Given the description of an element on the screen output the (x, y) to click on. 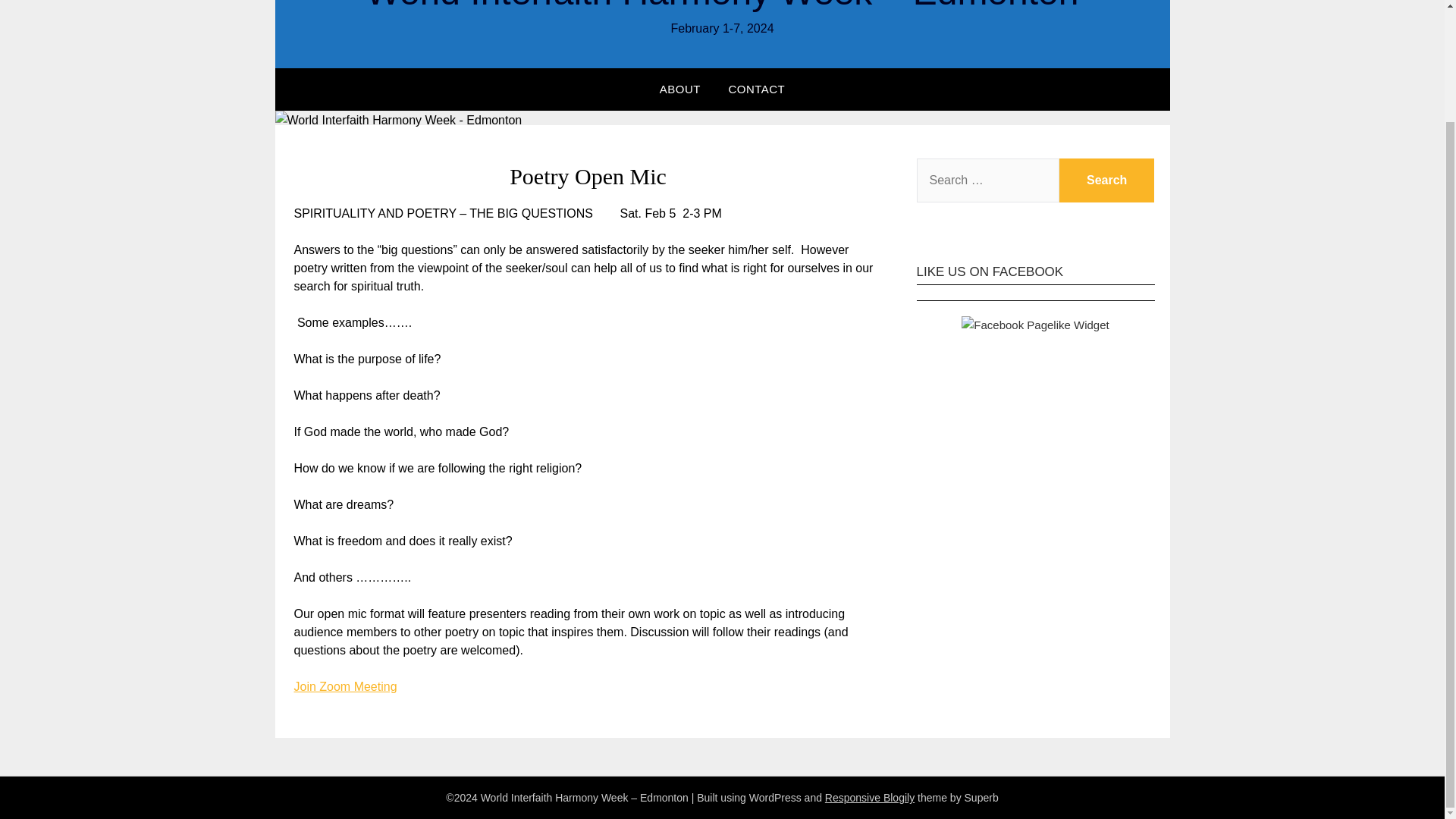
ABOUT (680, 88)
CONTACT (756, 88)
Search (1106, 180)
Search (1106, 180)
Responsive Blogily (869, 797)
Join Zoom Meeting (345, 686)
Search (1106, 180)
